Given the description of an element on the screen output the (x, y) to click on. 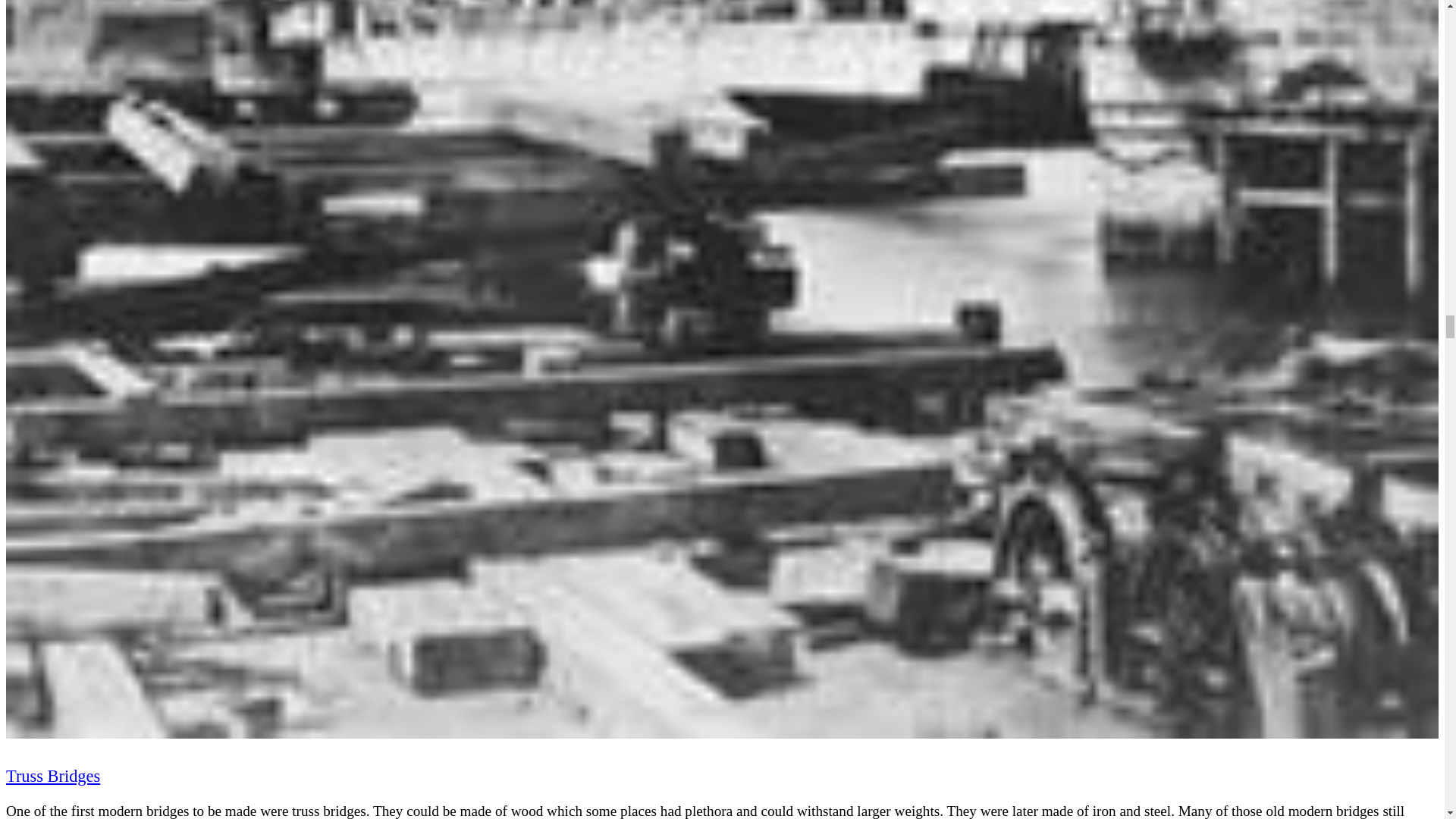
Truss Bridges (52, 775)
